Given the description of an element on the screen output the (x, y) to click on. 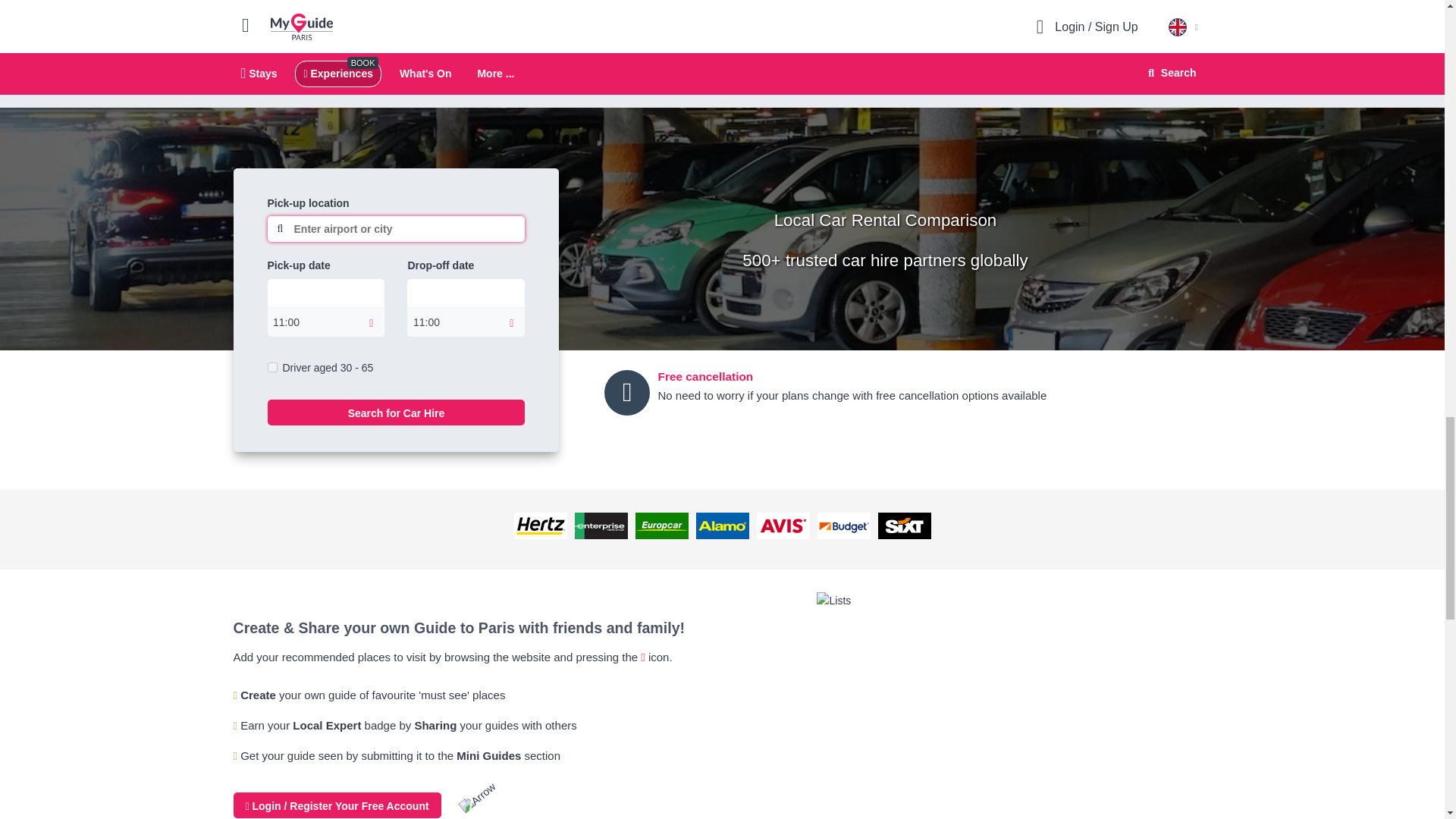
on (271, 367)
